Given the description of an element on the screen output the (x, y) to click on. 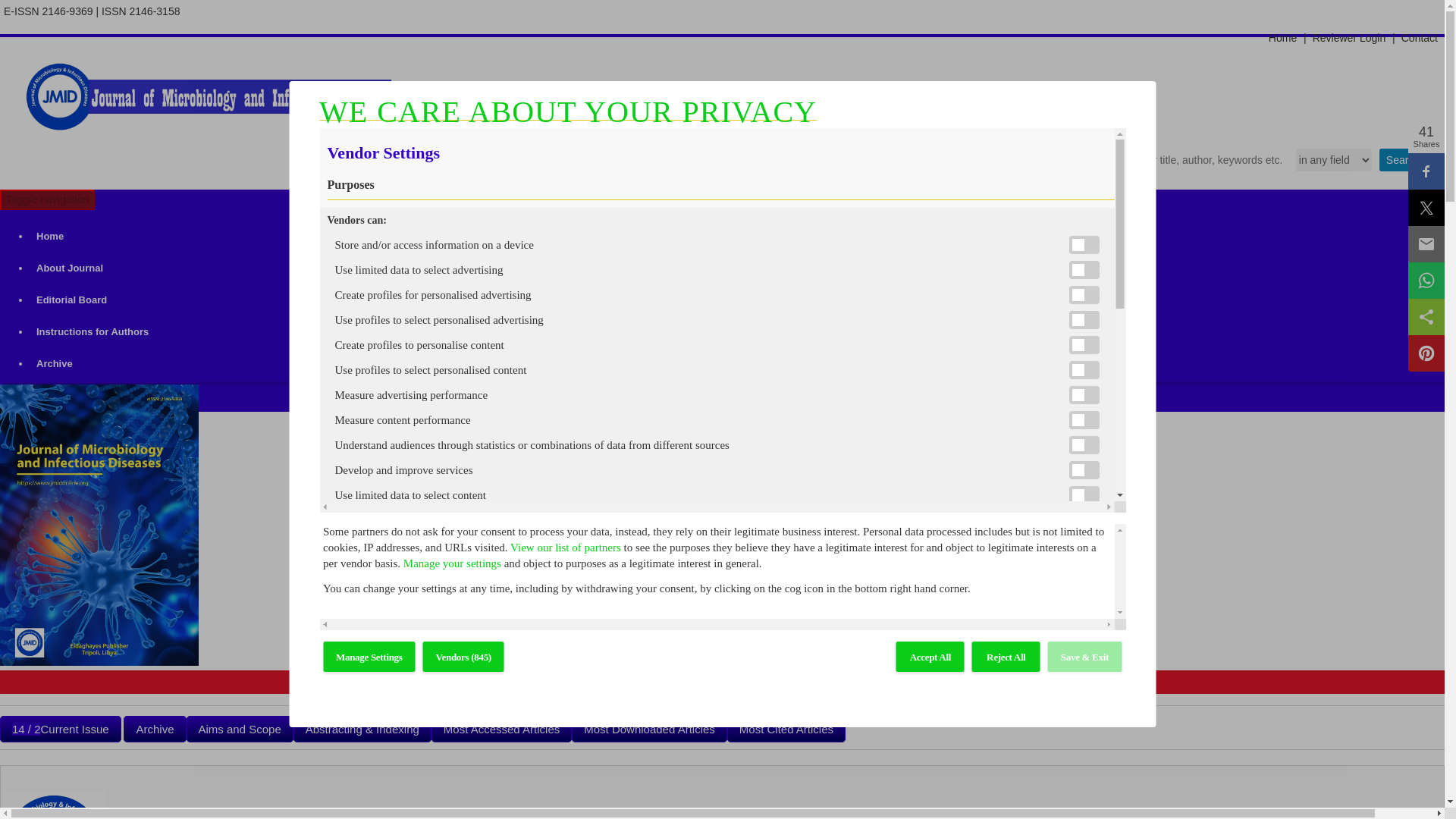
News (737, 395)
About Journal (737, 268)
Search (1402, 159)
Toggle navigation (47, 199)
Search (1402, 159)
Contact (1419, 37)
Most Accessed Articles (501, 728)
Home (737, 236)
Instructions for Authors (737, 332)
Most Cited Articles (785, 728)
Editorial Board (737, 300)
Archive (737, 364)
Archive (154, 728)
Aims and Scope (240, 728)
Most Downloaded Articles (649, 728)
